Given the description of an element on the screen output the (x, y) to click on. 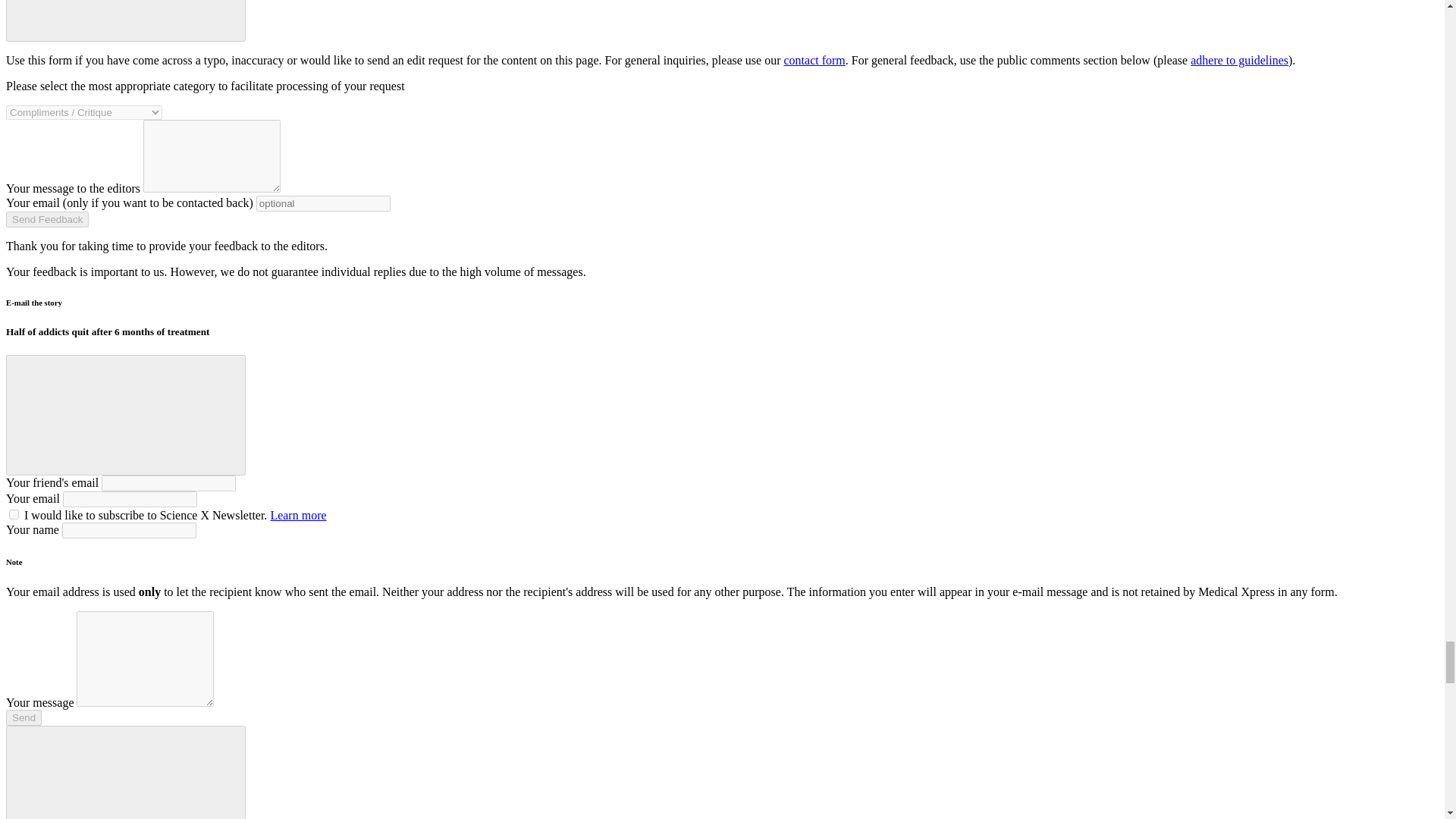
1 (13, 514)
